Given the description of an element on the screen output the (x, y) to click on. 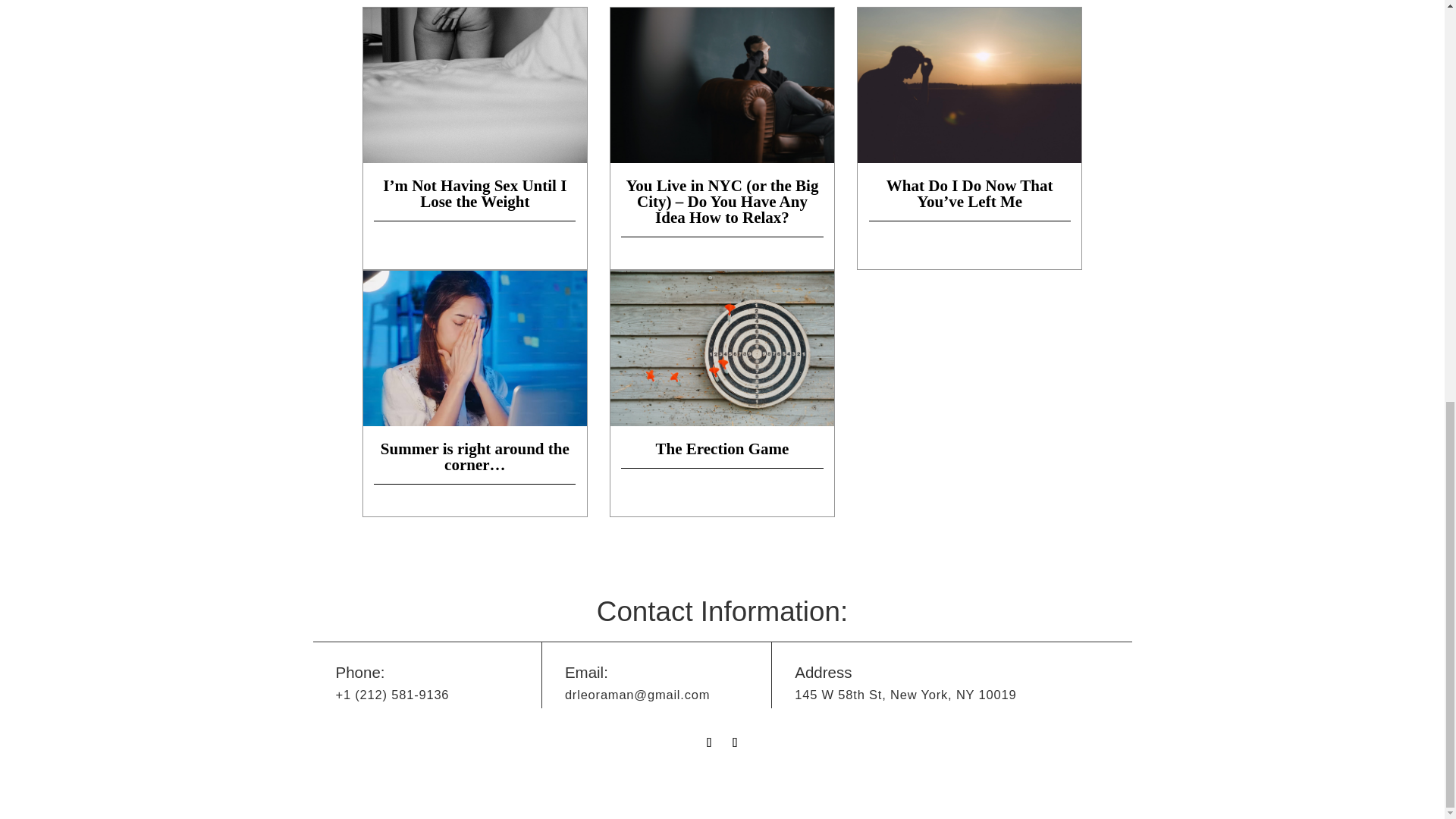
Follow on LinkedIn (735, 741)
Follow on Facebook (709, 741)
